Given the description of an element on the screen output the (x, y) to click on. 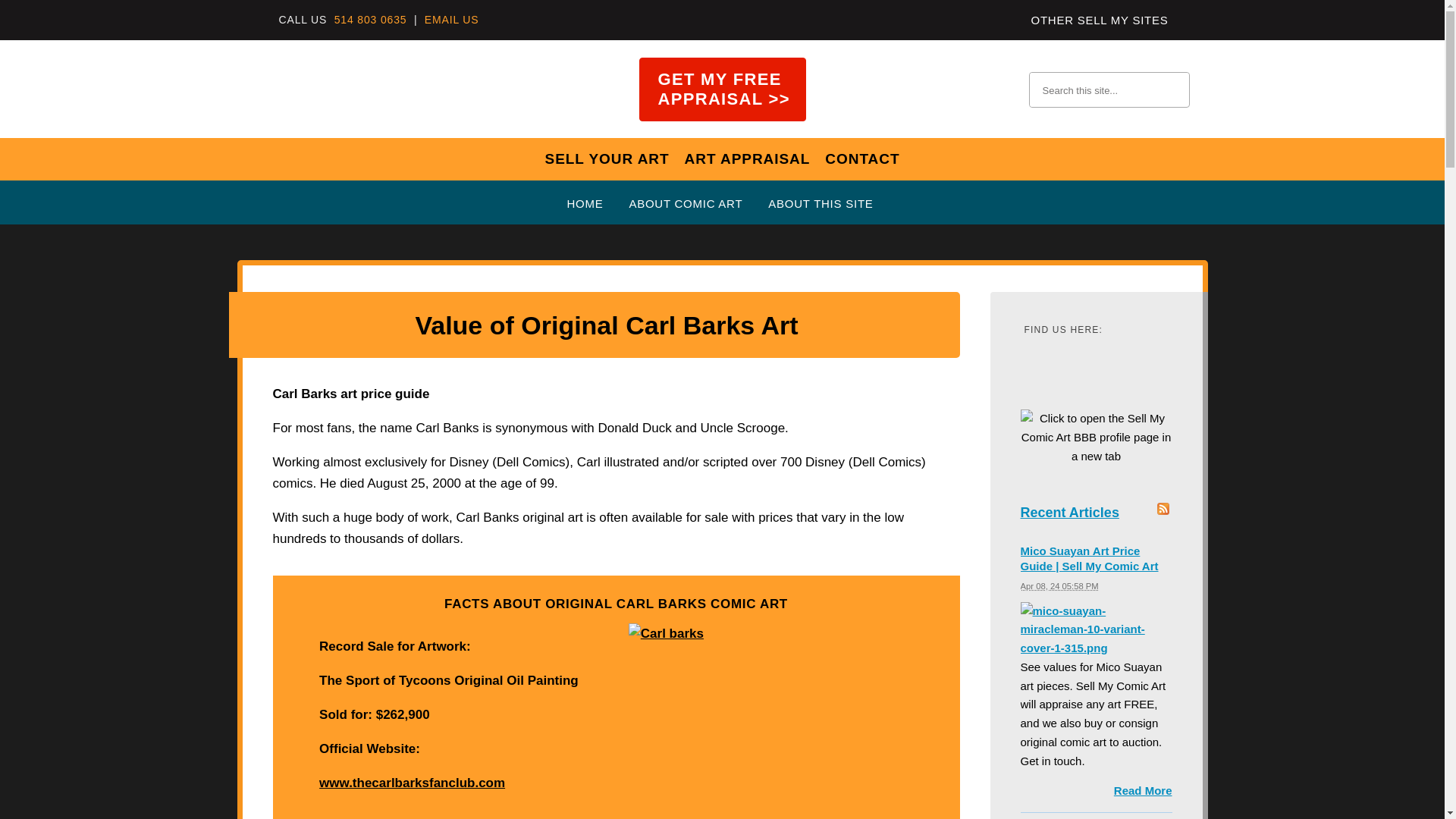
EMAIL US (452, 19)
CONTACT (862, 158)
MY WEBSITE (302, 88)
Search this site... (1091, 89)
Search this site... (1091, 89)
Go (1171, 87)
ART APPRAISAL (747, 158)
HOME (586, 203)
514 803 0635 (370, 19)
SELL YOUR ART (606, 158)
www.thecarlbarksfanclub.com (411, 782)
Go (1171, 87)
